Given the description of an element on the screen output the (x, y) to click on. 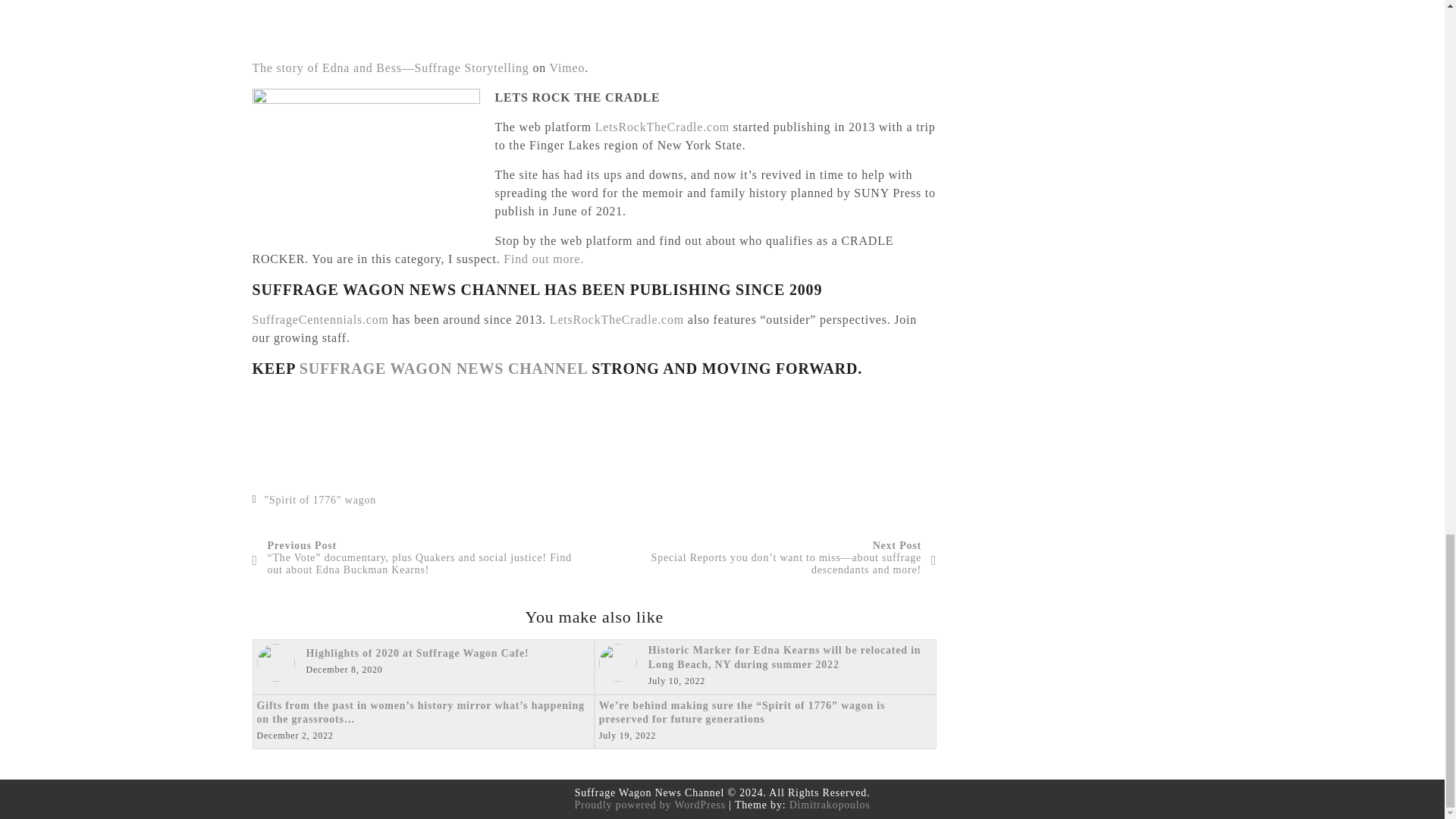
Find out more. (543, 258)
SuffrageCentennials.com (319, 318)
LetsRockTheCradle.com (617, 318)
Vimeo (567, 67)
SUFFRAGE WAGON NEWS CHANNEL (443, 368)
LetsRockTheCradle.com (662, 126)
